Given the description of an element on the screen output the (x, y) to click on. 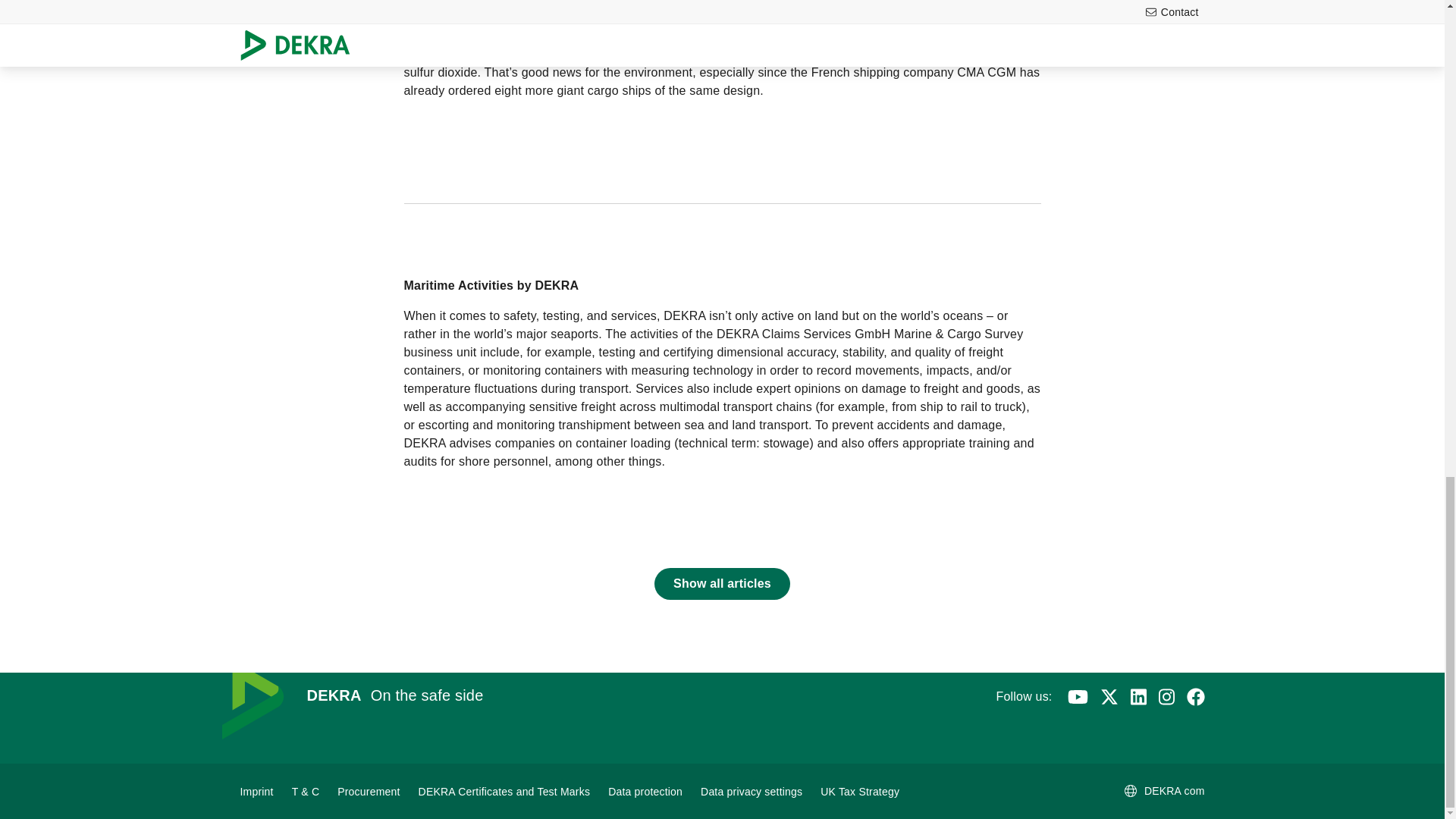
instagram (1166, 696)
x (1108, 696)
youtube (1077, 696)
facebook (1195, 696)
linkedin (1137, 696)
